Given the description of an element on the screen output the (x, y) to click on. 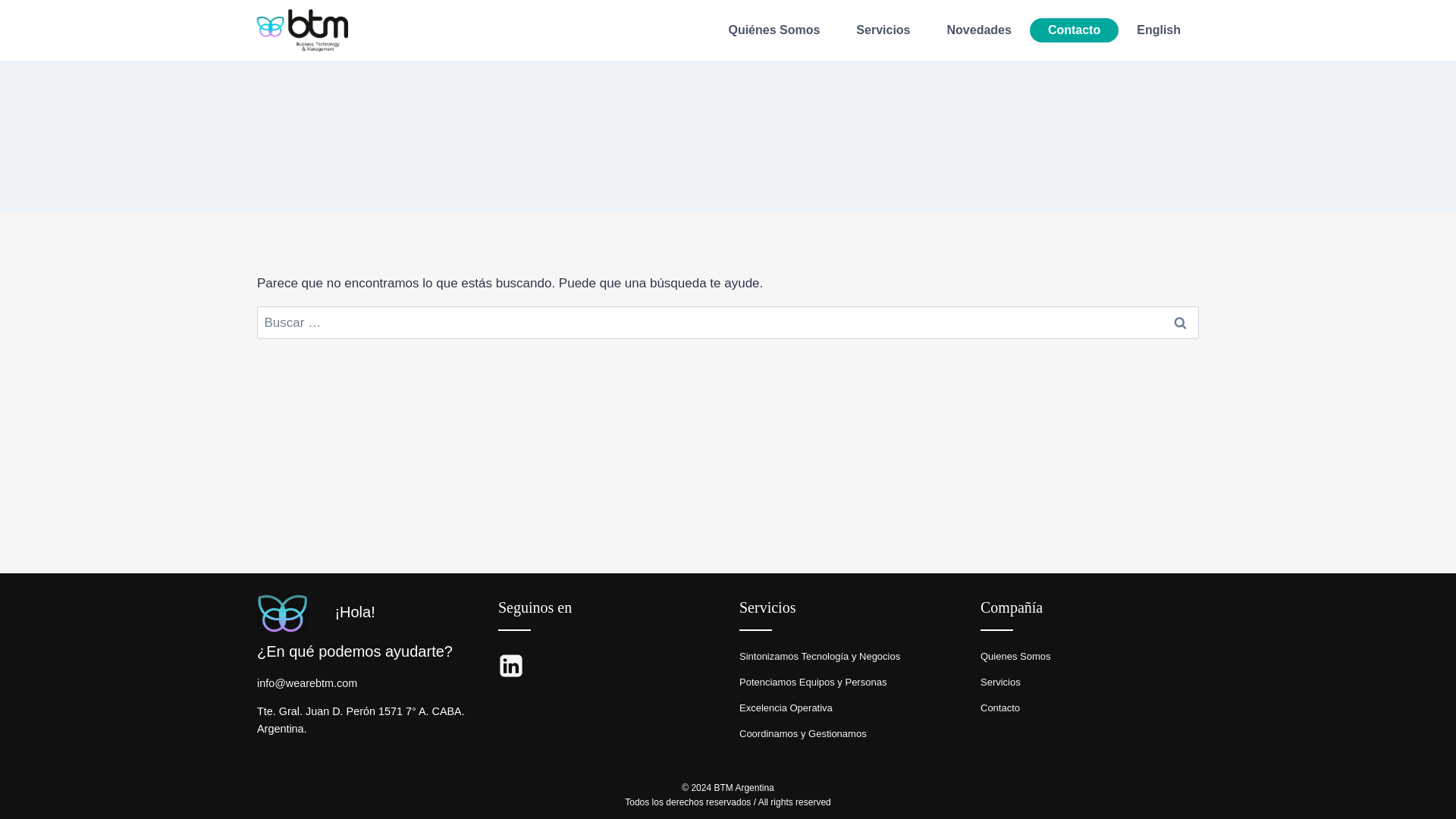
Novedades (978, 29)
Quienes Somos (1015, 655)
Buscar (1179, 322)
Servicios (999, 681)
Potenciamos Equipos y Personas (812, 681)
Buscar (1179, 322)
Contacto (999, 707)
Excelencia Operativa (785, 707)
English (1158, 29)
Servicios (883, 29)
Contacto (1073, 30)
Buscar (1179, 322)
Coordinamos y Gestionamos (802, 733)
